Given the description of an element on the screen output the (x, y) to click on. 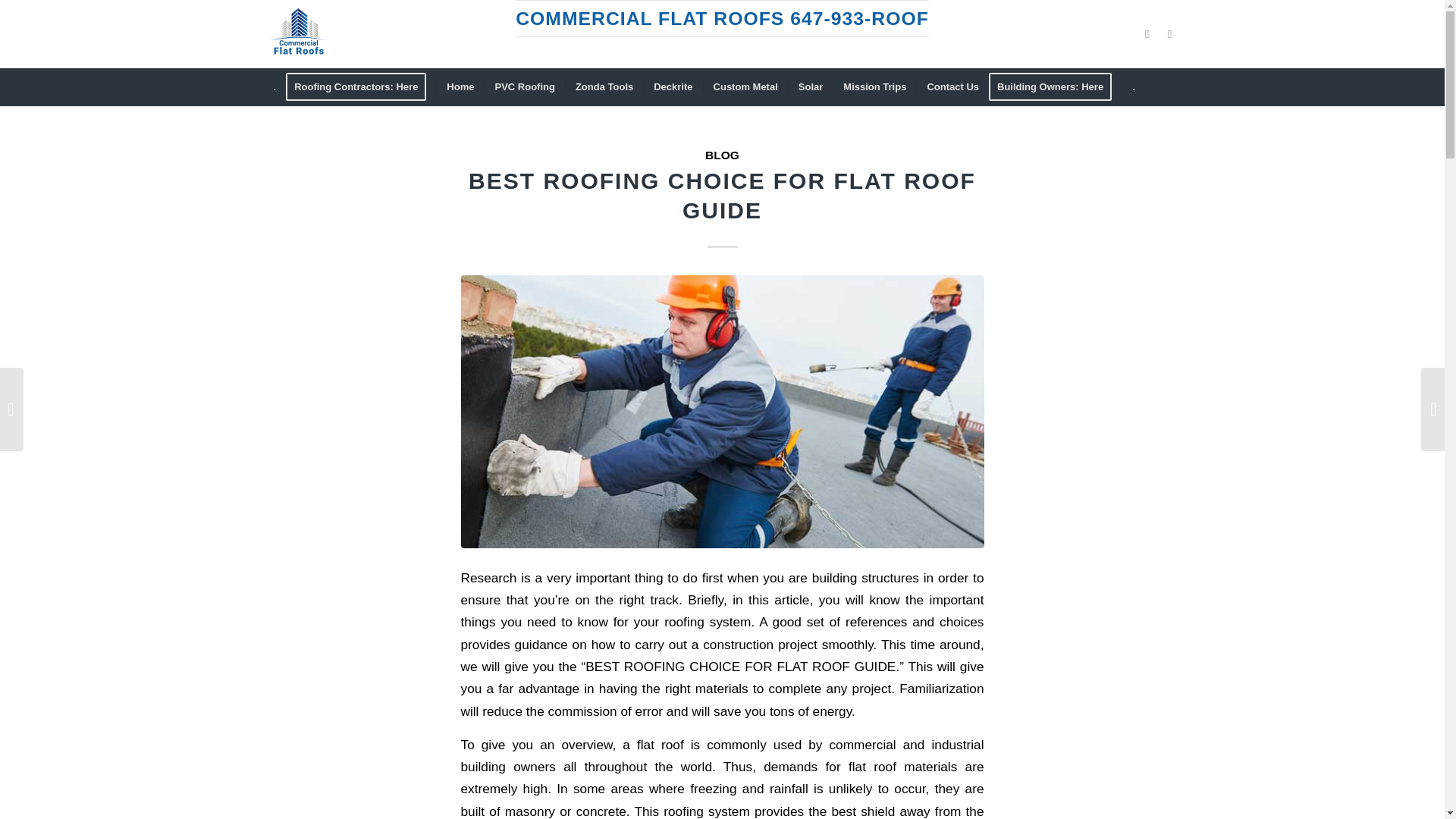
Mission Trips (873, 86)
BLOG (721, 154)
Building Owners: Here (1054, 86)
logo (297, 33)
Contact Us (951, 86)
Home (459, 86)
Custom Metal (745, 86)
Zonda Tools (603, 86)
Instagram (1169, 33)
Roofing Contractors: Here (360, 86)
Solar (809, 86)
Deckrite (672, 86)
Facebook (1146, 33)
PVC Roofing (523, 86)
